Given the description of an element on the screen output the (x, y) to click on. 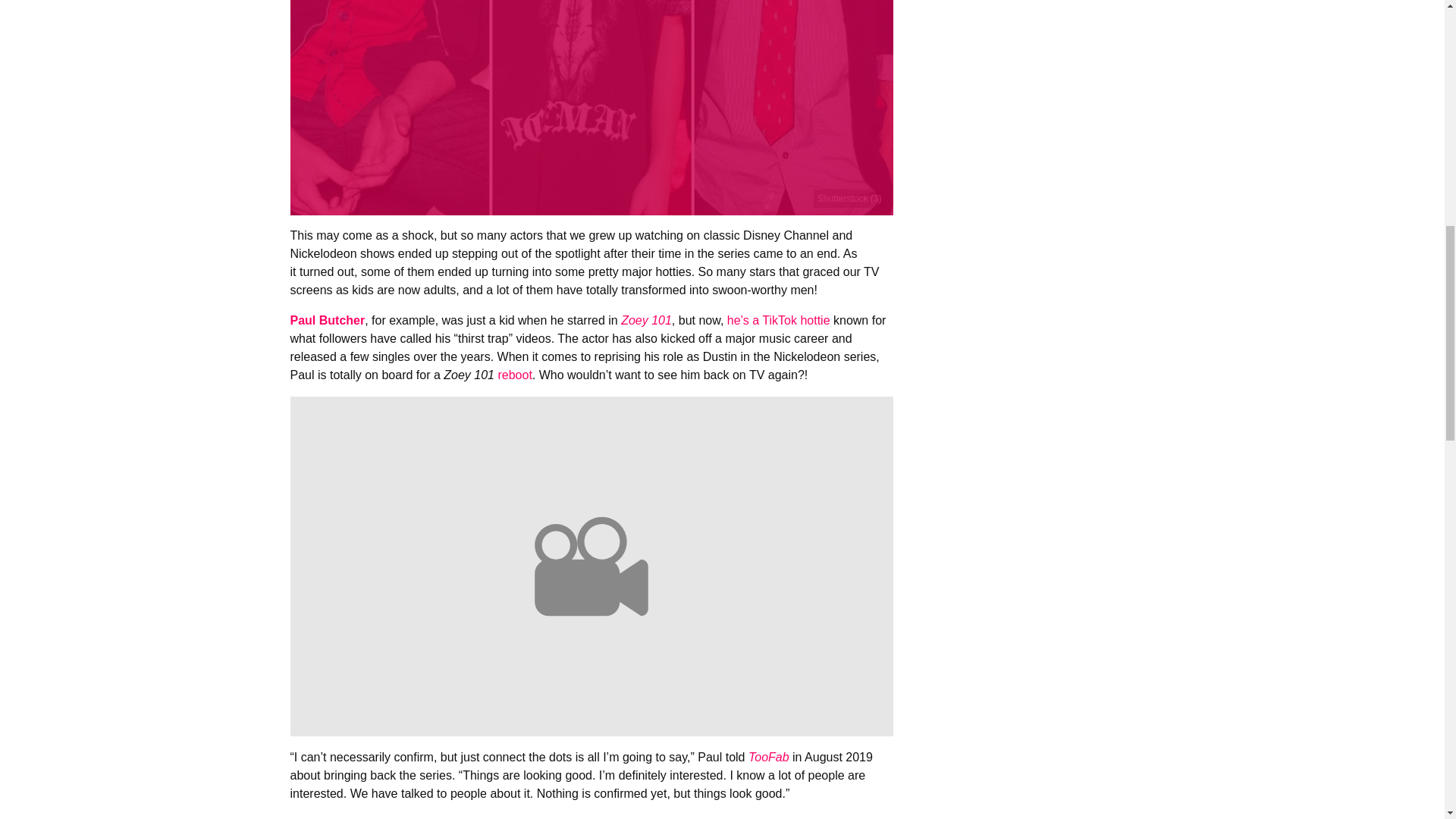
Zoey 101 (646, 319)
Paul Butcher (327, 319)
reboot (514, 374)
TooFab (768, 757)
